Given the description of an element on the screen output the (x, y) to click on. 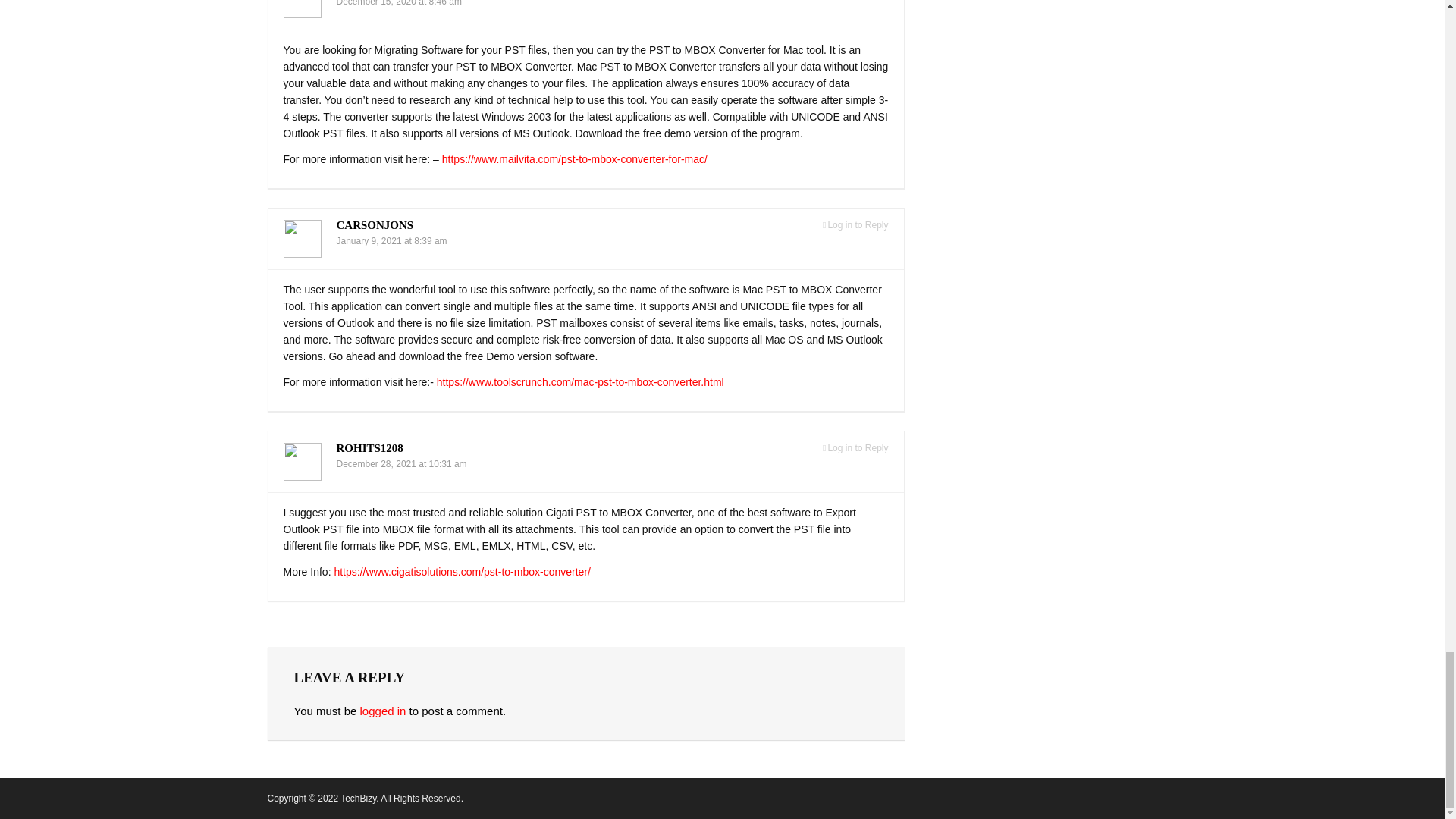
December 15, 2020 at 8:46 am (398, 3)
Log in to Reply (855, 448)
Log in to Reply (855, 225)
December 28, 2021 at 10:31 am (401, 463)
ROHITS1208 (369, 448)
January 9, 2021 at 8:39 am (391, 240)
